Given the description of an element on the screen output the (x, y) to click on. 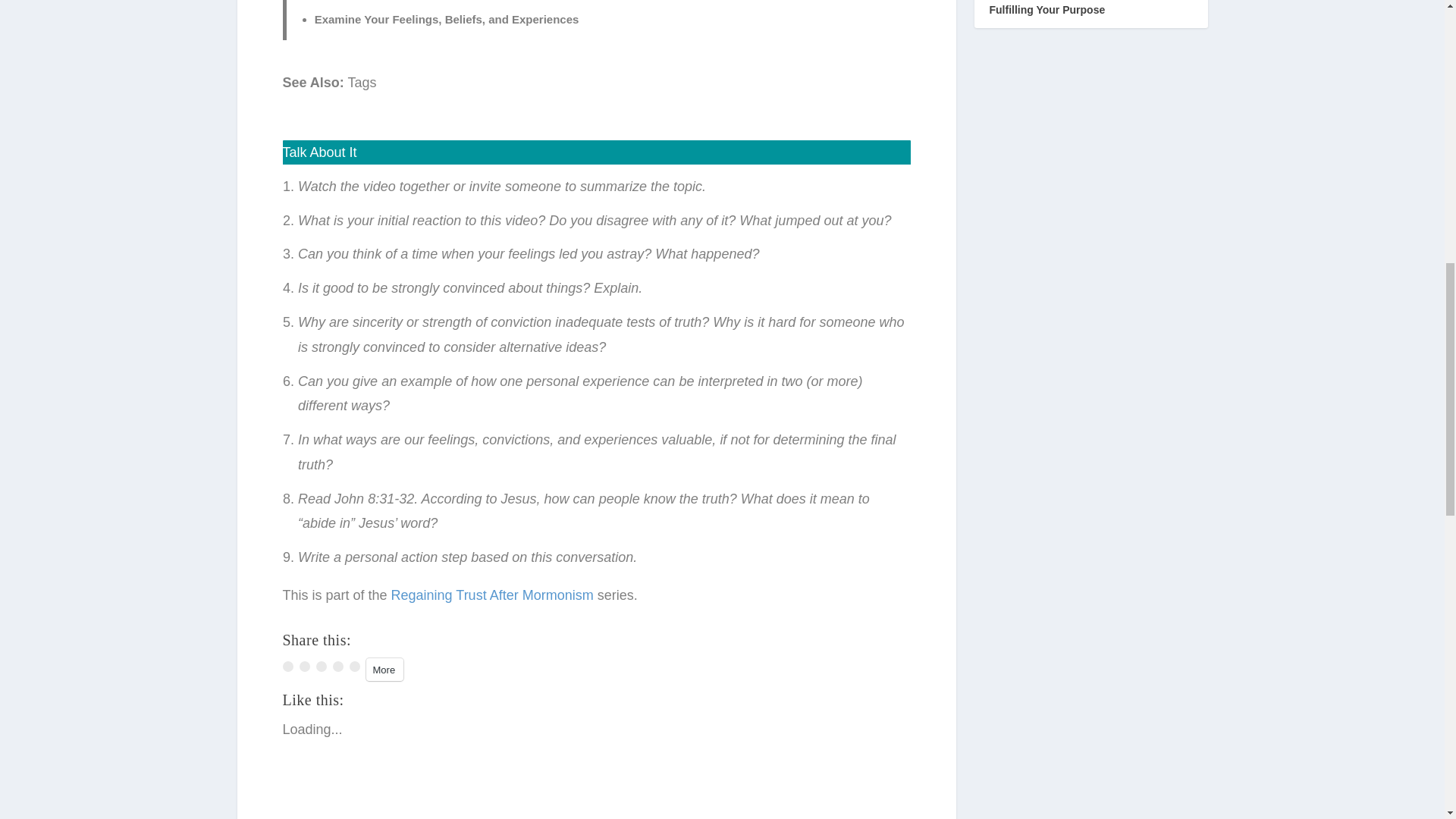
Click to share on LinkedIn (336, 665)
Click to share on Facebook (303, 665)
More (384, 669)
Regaining Trust After Mormonism (492, 595)
Click to share on Twitter (287, 665)
Click to share on Pinterest (320, 665)
Click to print (354, 665)
